Given the description of an element on the screen output the (x, y) to click on. 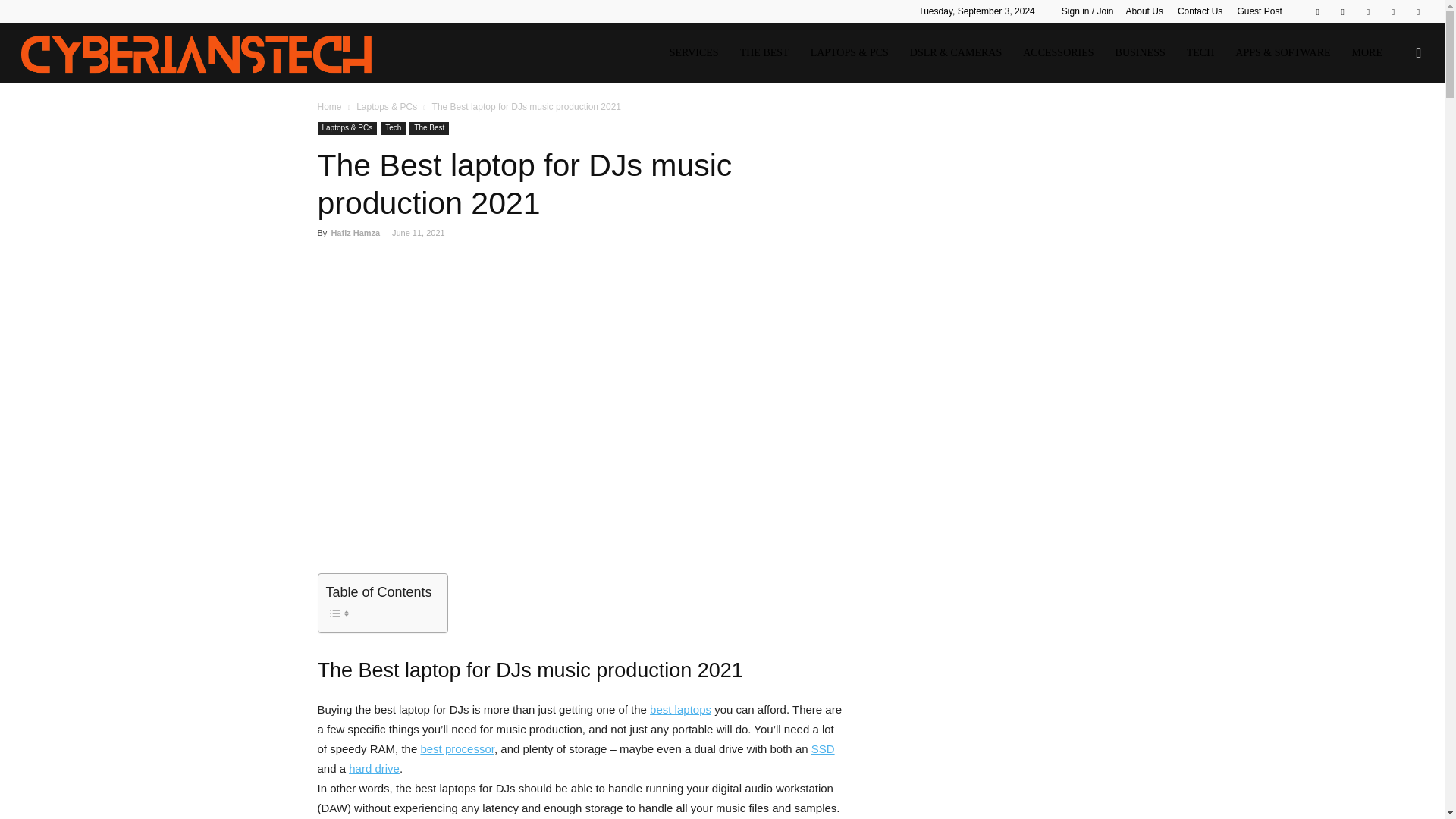
About Us (1144, 10)
Facebook (1317, 11)
Twitter (1417, 11)
Tumblr (1393, 11)
Pinterest (1343, 11)
Contact Us (1200, 10)
RSS (1367, 11)
Guest Post (1258, 10)
